Given the description of an element on the screen output the (x, y) to click on. 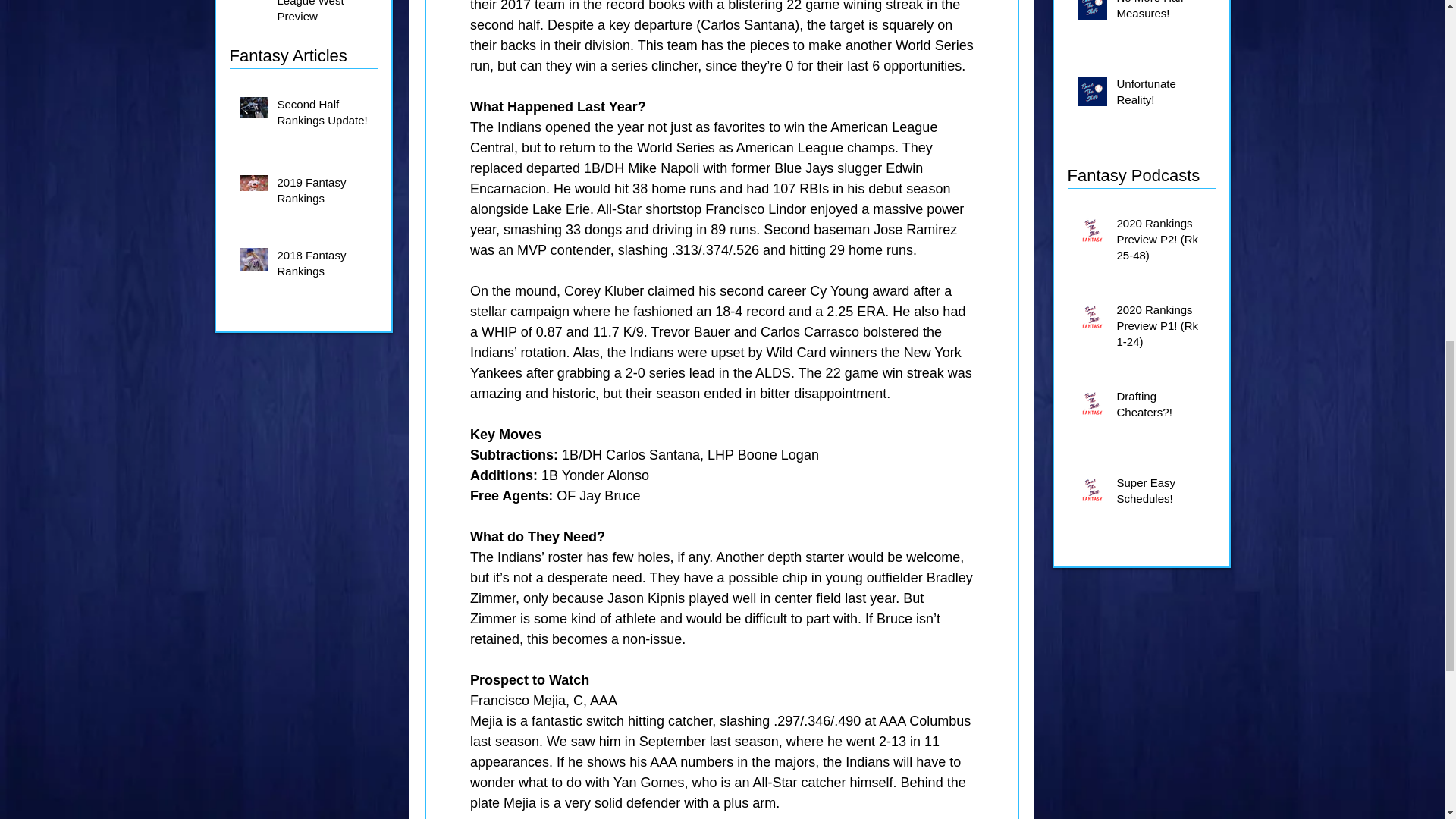
2020 American League West Preview (323, 15)
2018 Fantasy Rankings (323, 266)
Super Easy Schedules! (1162, 493)
No More Half Measures! (1162, 13)
Second Half Rankings Update! (323, 115)
Unfortunate Reality! (1162, 94)
2019 Fantasy Rankings (323, 193)
Drafting Cheaters?! (1162, 406)
